Given the description of an element on the screen output the (x, y) to click on. 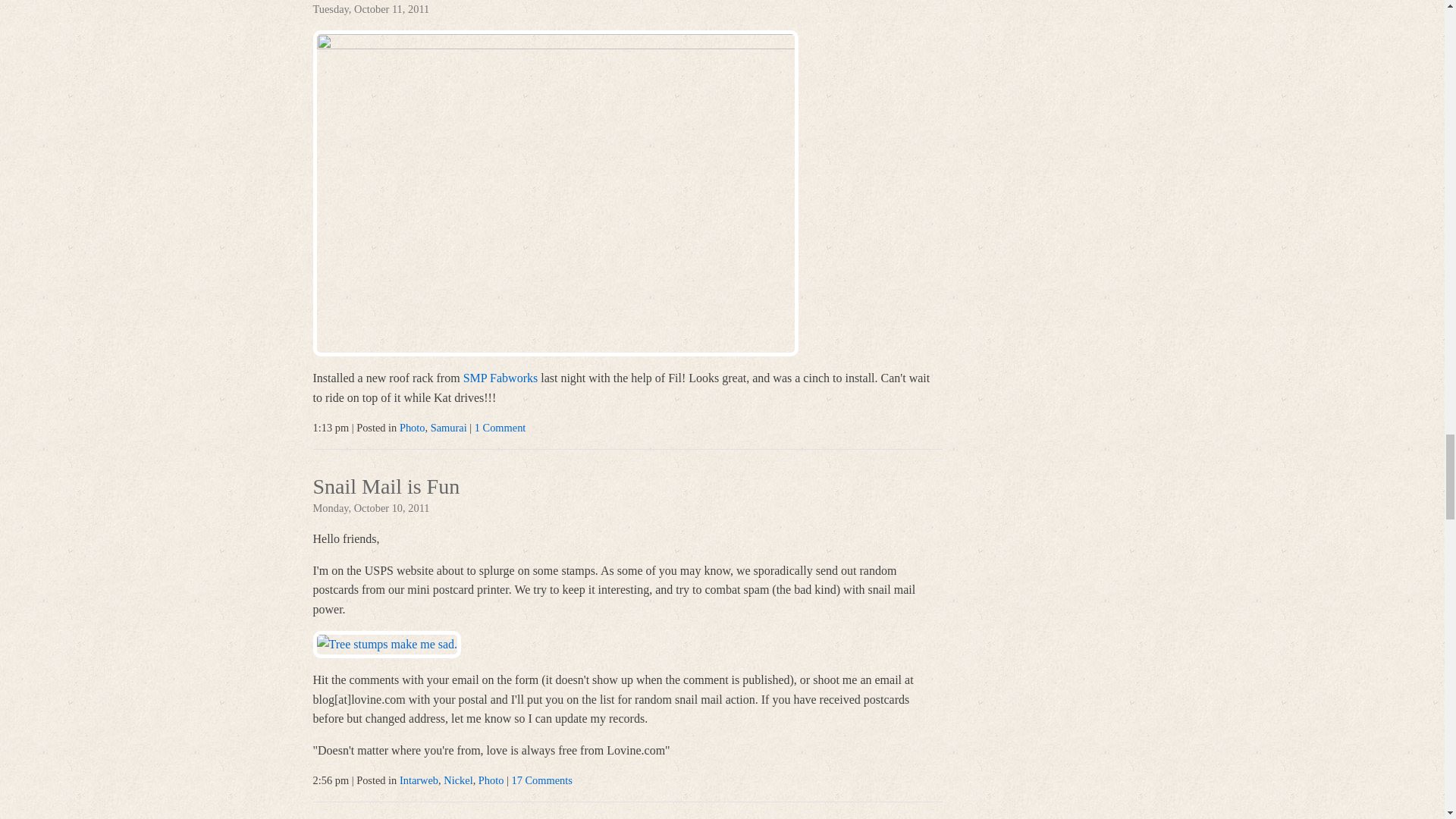
Snail Mail is Fun (386, 488)
1 Comment (499, 427)
Nickel (457, 779)
Tree stumps make me sad. by lovine, on Flickr (387, 644)
SMP Fabworks (500, 377)
Samurai (448, 427)
Photo (411, 427)
Intarweb (418, 779)
Look at my Rack (386, 1)
